Given the description of an element on the screen output the (x, y) to click on. 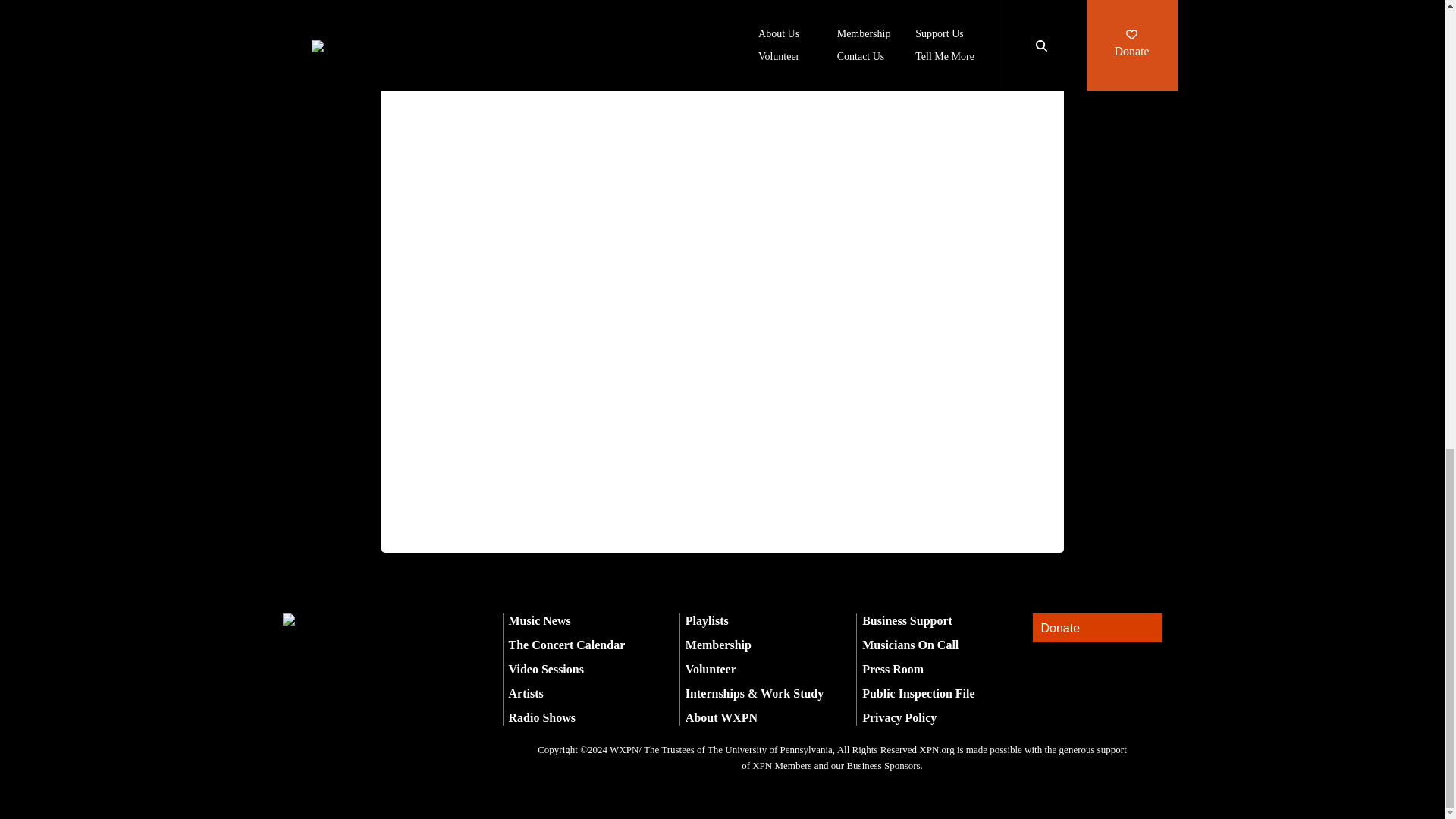
Video Sessions (545, 668)
Volunteer (710, 668)
The Concert Calendar (566, 644)
Music News (539, 620)
Business Support (906, 620)
Playlists (707, 620)
About WXPN (721, 717)
Membership (718, 644)
Artists (525, 693)
Radio Shows (541, 717)
